Given the description of an element on the screen output the (x, y) to click on. 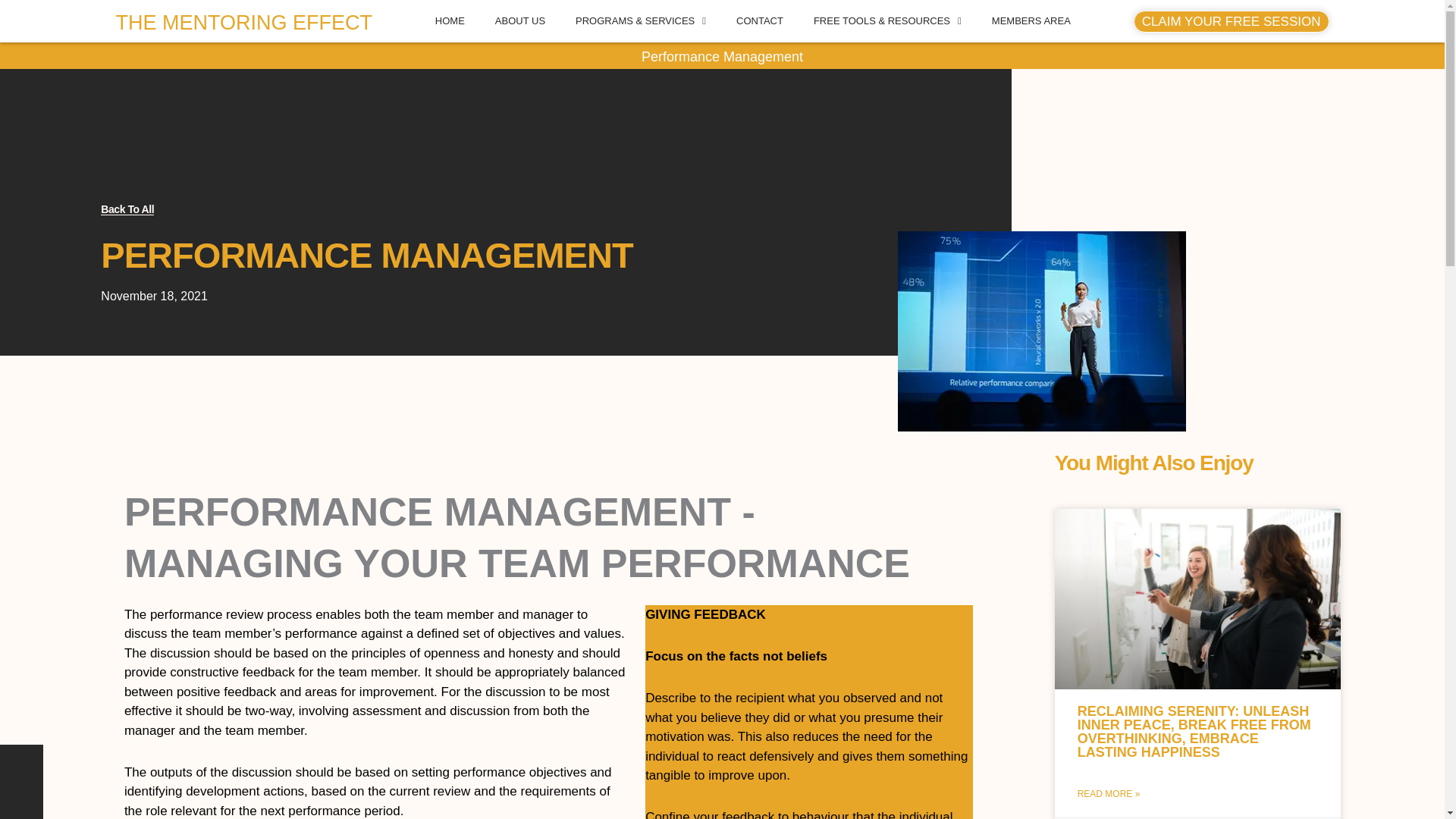
ABOUT US (520, 21)
HOME (450, 21)
CONTACT (758, 21)
MEMBERS AREA (1031, 21)
CLAIM YOUR FREE SESSION (1231, 21)
THE MENTORING EFFECT (243, 22)
